Given the description of an element on the screen output the (x, y) to click on. 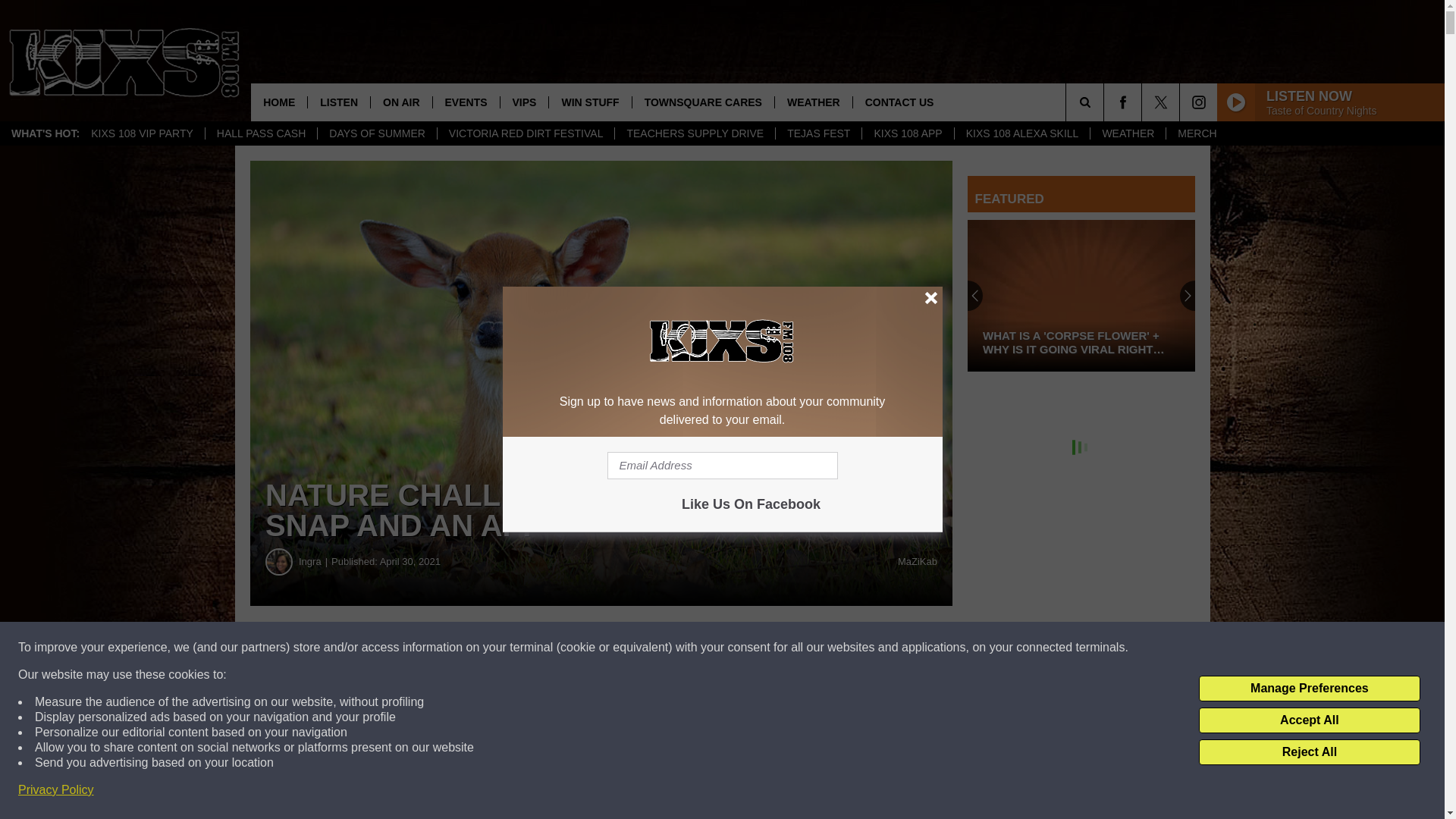
ON AIR (399, 102)
Reject All (1309, 751)
CONTACT US (898, 102)
Privacy Policy (55, 789)
EVENTS (465, 102)
WIN STUFF (589, 102)
MERCH (1196, 133)
KIXS 108 VIP PARTY (142, 133)
HOME (278, 102)
TOWNSQUARE CARES (702, 102)
WEATHER (1127, 133)
VICTORIA RED DIRT FESTIVAL (525, 133)
SEARCH (1106, 102)
LISTEN (338, 102)
KIXS 108 APP (907, 133)
